Given the description of an element on the screen output the (x, y) to click on. 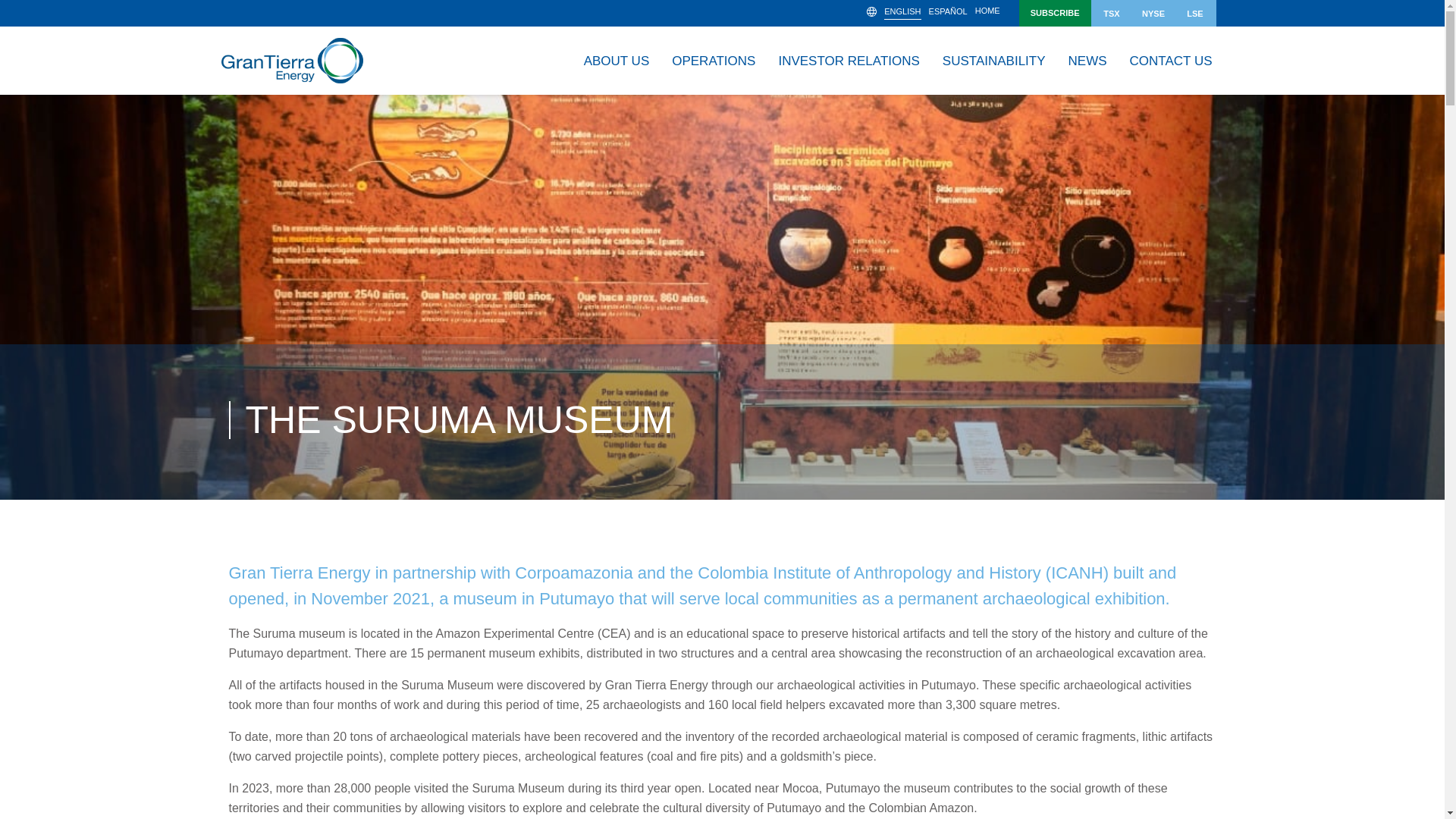
TSX (1111, 13)
Gran Tierra Energy (291, 60)
Investor Relations (848, 60)
SUBSCRIBE (1054, 13)
INVESTOR RELATIONS (848, 60)
NYSE (1153, 13)
SUSTAINABILITY (994, 60)
OPERATIONS (714, 60)
Operations (714, 60)
HOME (987, 12)
